Given the description of an element on the screen output the (x, y) to click on. 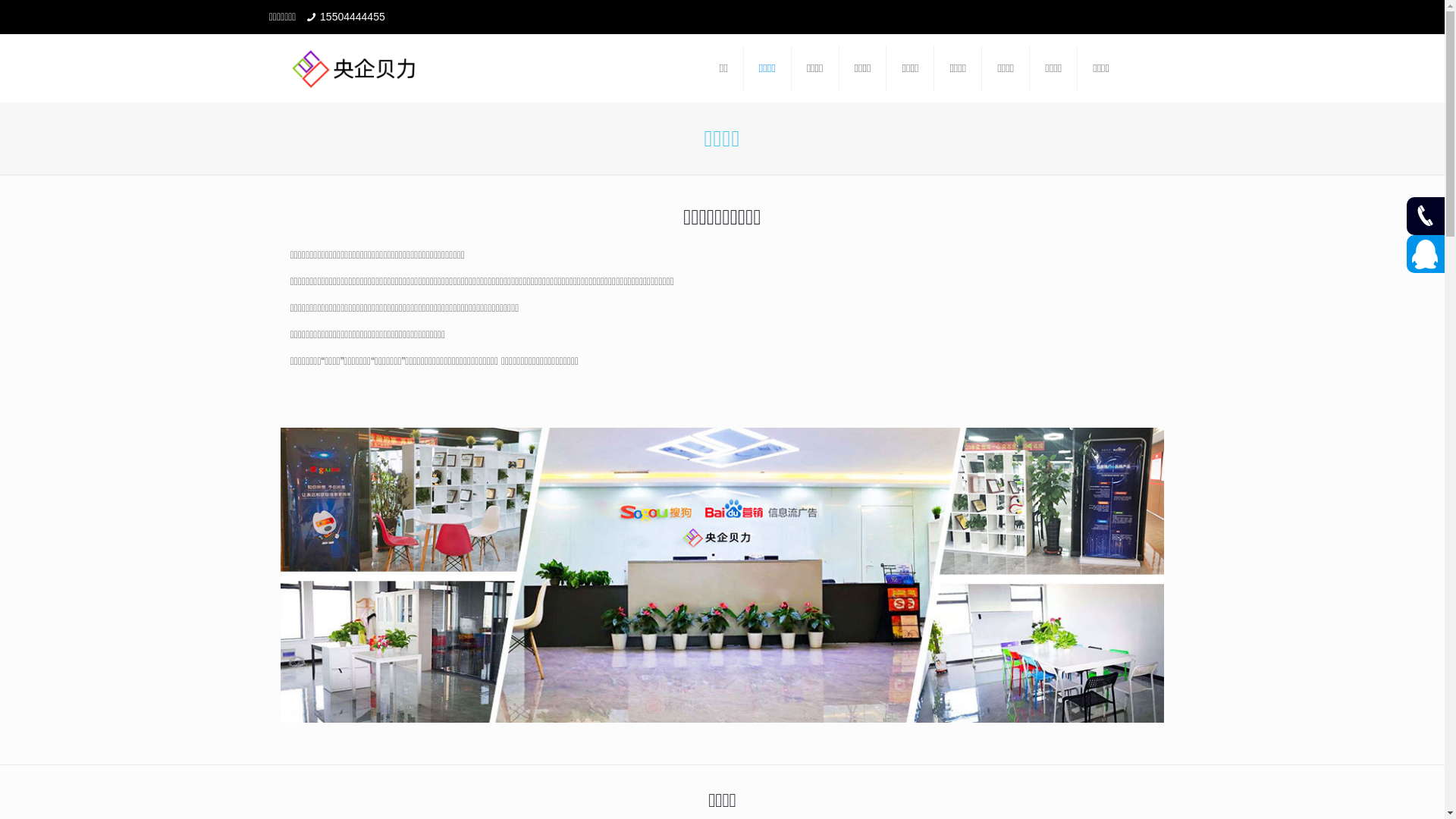
15504444455 Element type: text (352, 16)
